Given the description of an element on the screen output the (x, y) to click on. 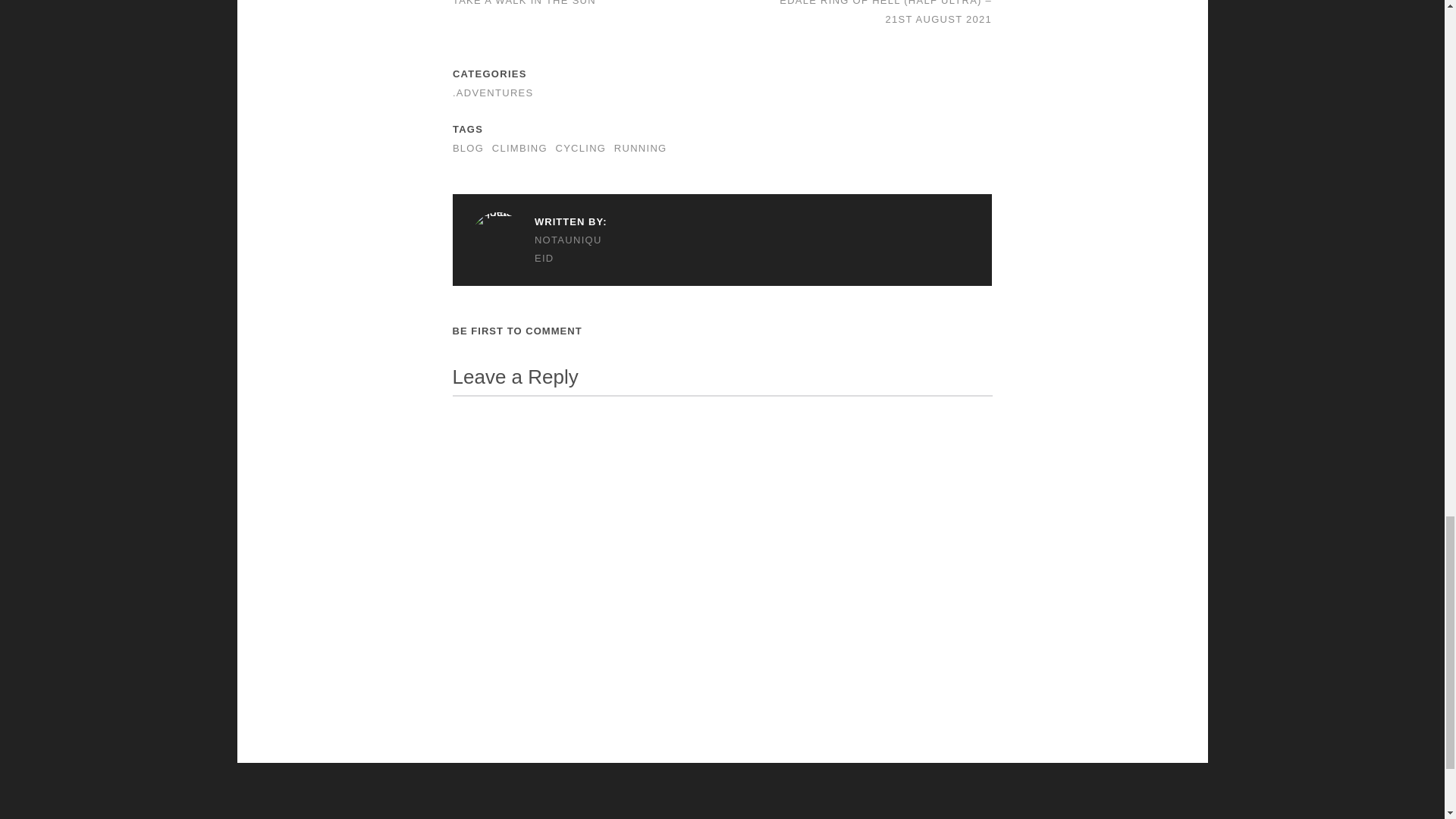
NOTAUNIQUEID (538, 248)
RUNNING (640, 147)
.ADVENTURES (493, 92)
Posts by notauniqueid (538, 248)
CLIMBING (519, 147)
View all posts tagged blog (467, 147)
View all posts tagged climbing (519, 147)
CYCLING (579, 147)
View all posts in .adventures (493, 92)
BLOG (467, 147)
TAKE A WALK IN THE SUN (523, 2)
View all posts tagged Cycling (579, 147)
View all posts tagged Running (640, 147)
